Given the description of an element on the screen output the (x, y) to click on. 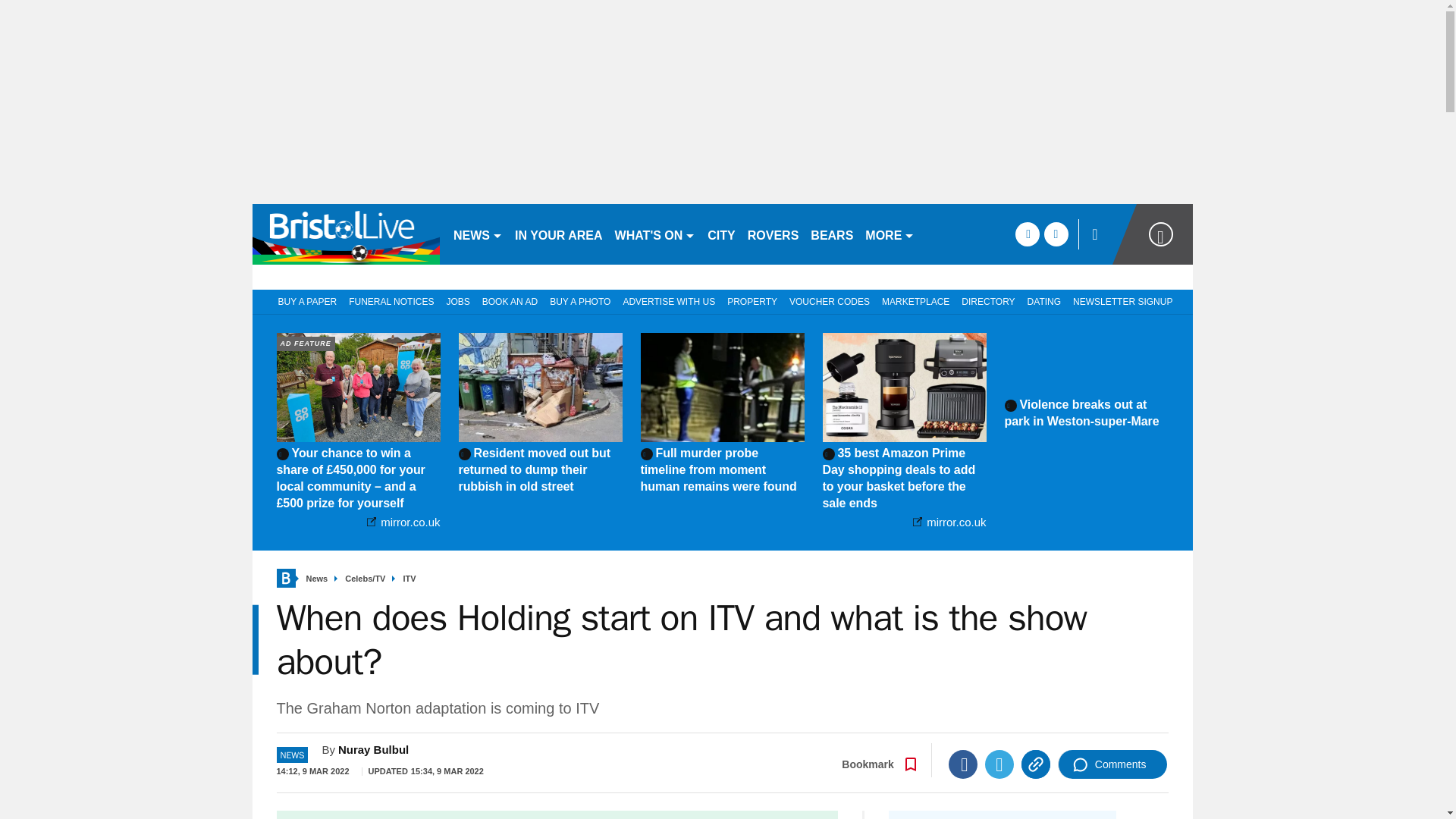
twitter (1055, 233)
BEARS (832, 233)
WHAT'S ON (654, 233)
Comments (1112, 764)
CITY (721, 233)
ROVERS (773, 233)
NEWS (477, 233)
facebook (1026, 233)
MORE (889, 233)
Facebook (962, 764)
Twitter (999, 764)
bristolpost (345, 233)
IN YOUR AREA (558, 233)
